Given the description of an element on the screen output the (x, y) to click on. 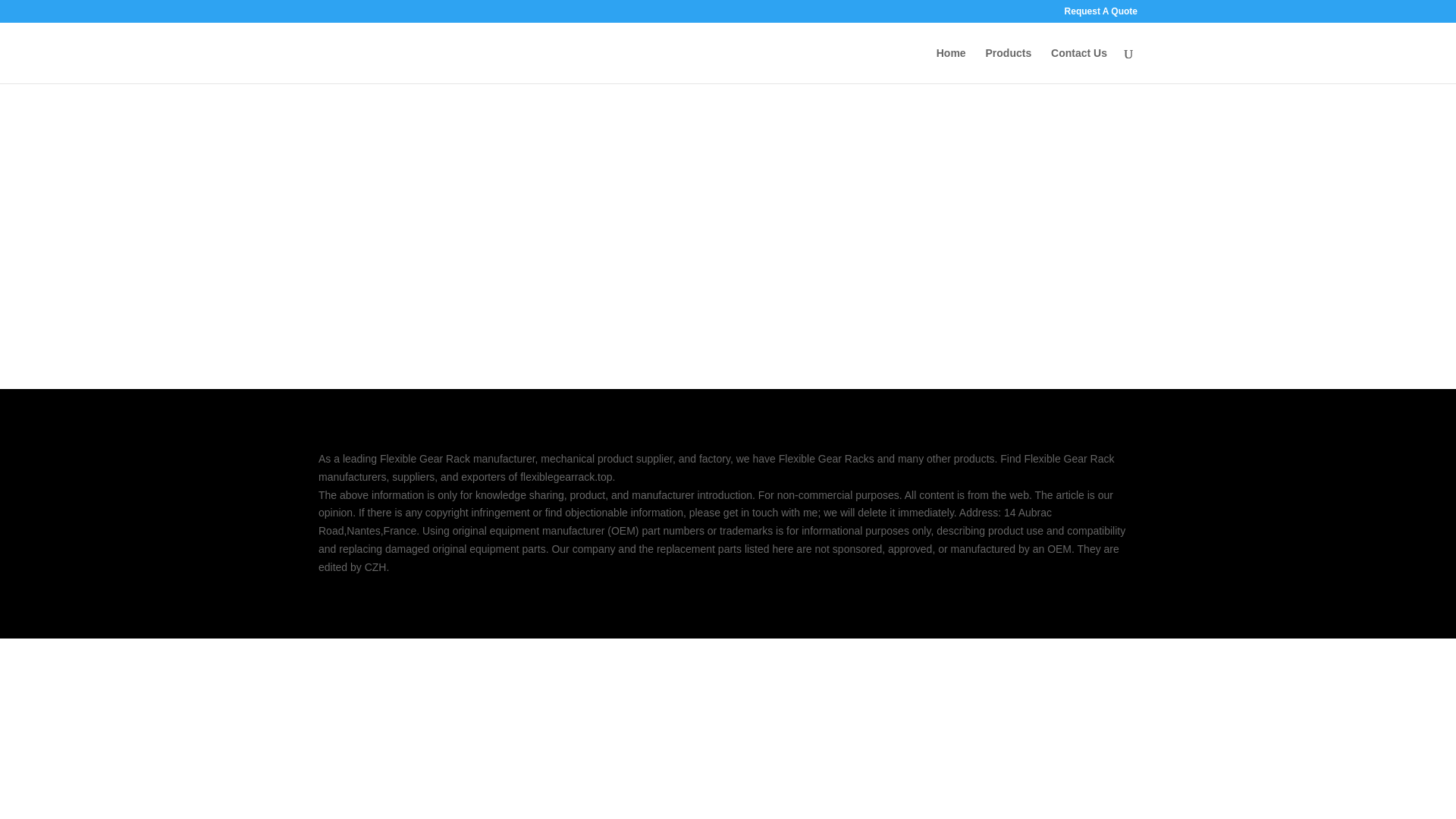
Request A Quote (1100, 14)
Contact Us (1078, 65)
Products (1008, 65)
